Given the description of an element on the screen output the (x, y) to click on. 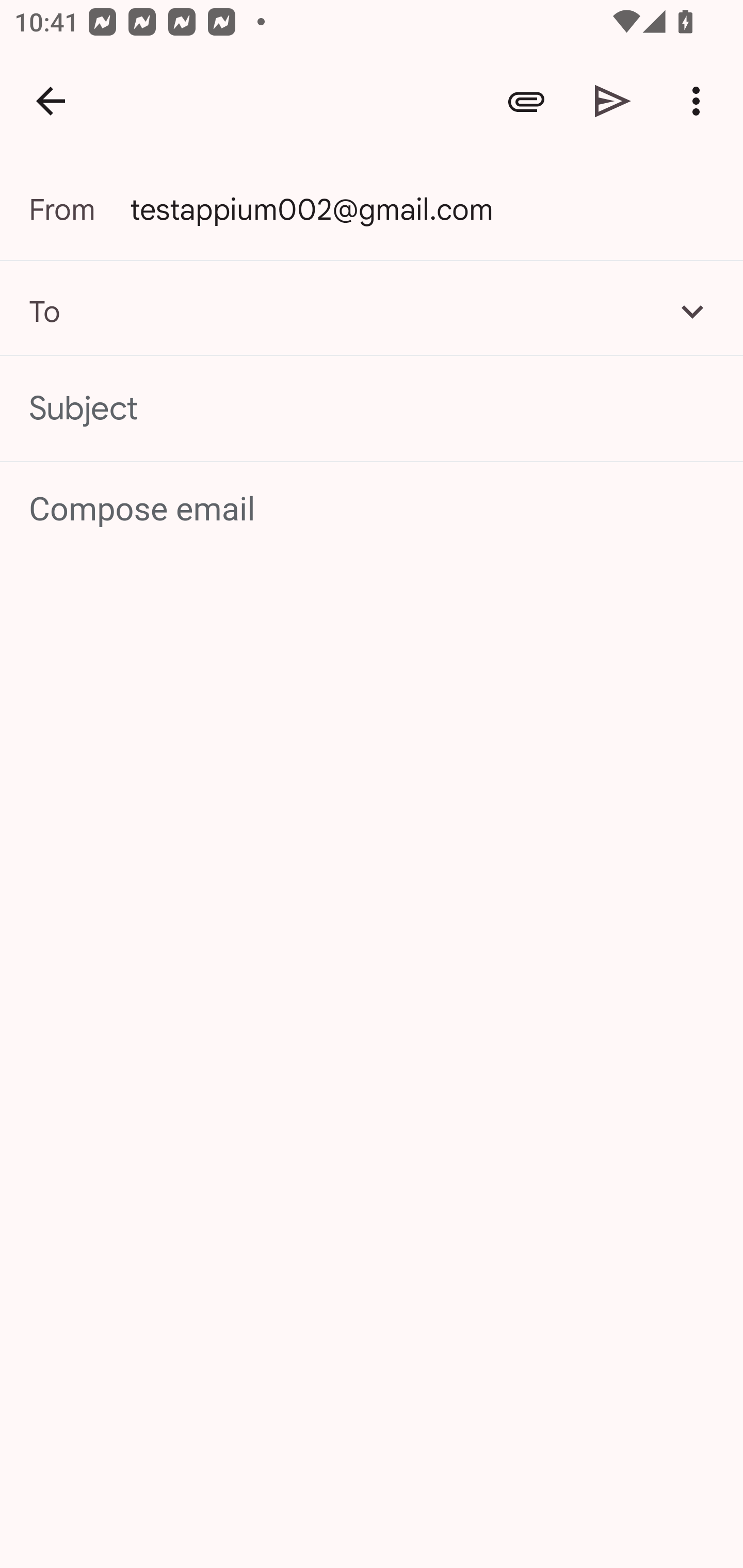
Navigate up (50, 101)
Attach file (525, 101)
Send (612, 101)
More options (699, 101)
From (79, 209)
Add Cc/Bcc (692, 311)
Subject (371, 407)
